Given the description of an element on the screen output the (x, y) to click on. 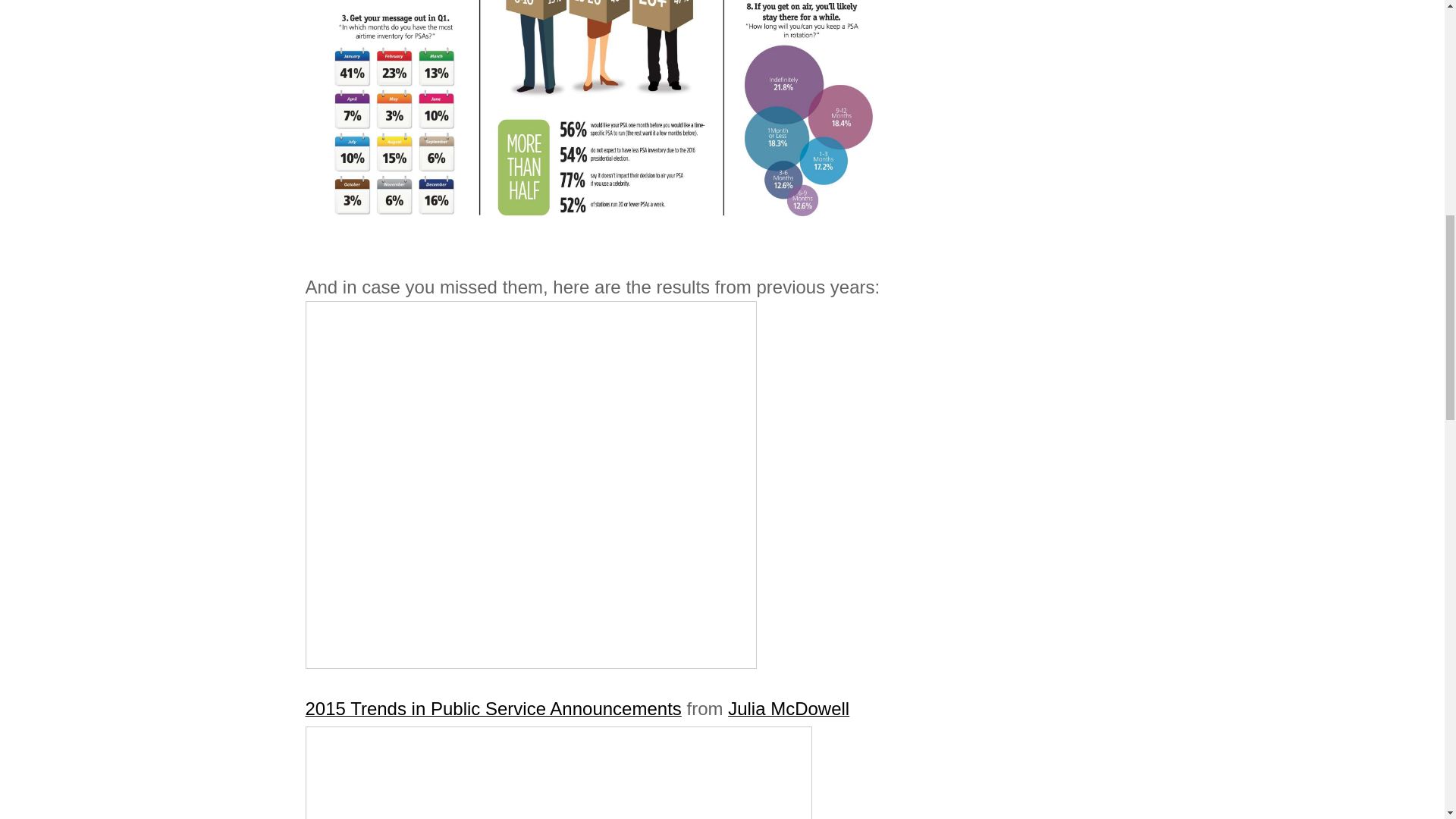
2015 Trends in Public Service Announcements (492, 708)
